Given the description of an element on the screen output the (x, y) to click on. 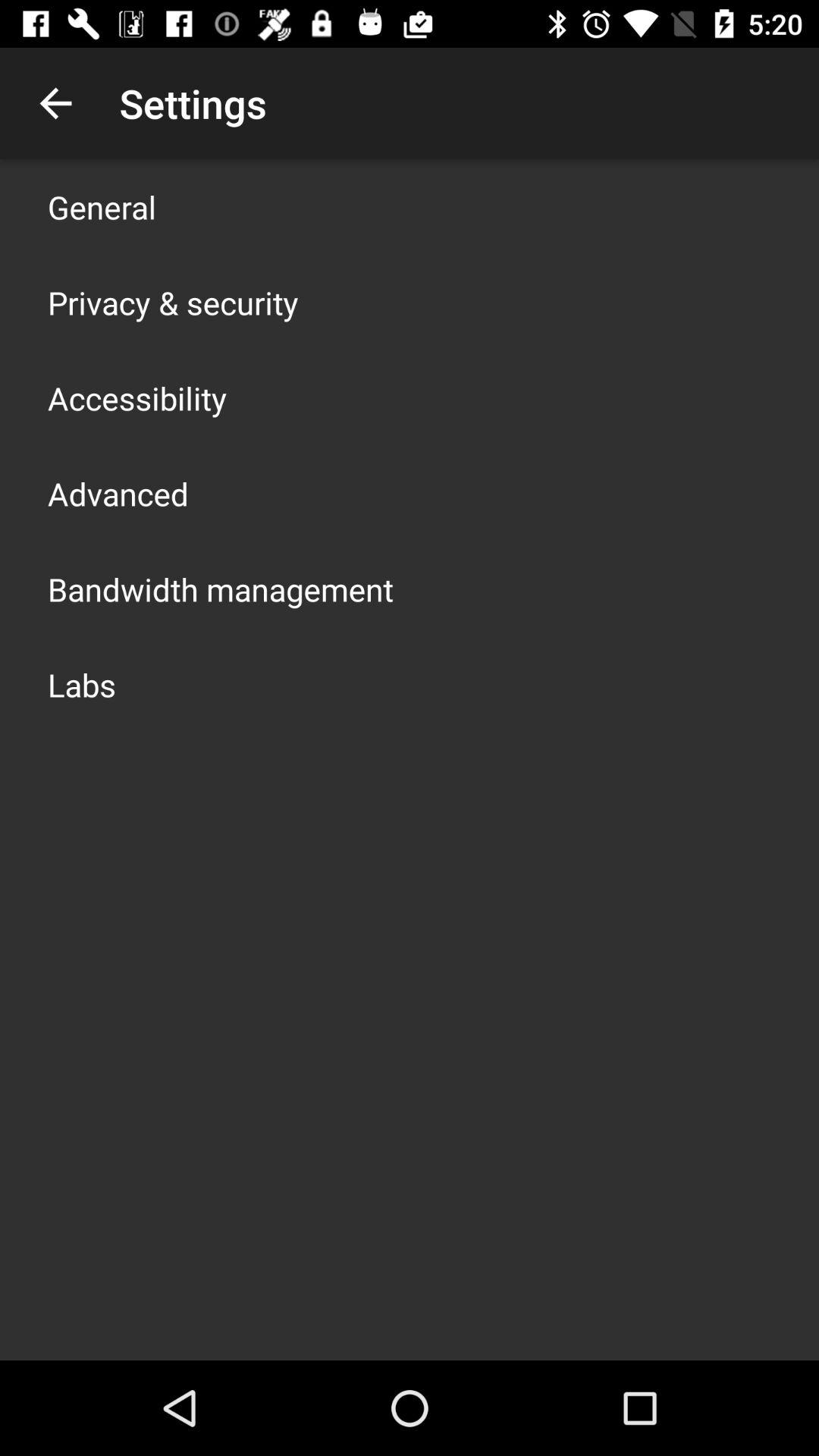
swipe until the advanced (117, 493)
